Given the description of an element on the screen output the (x, y) to click on. 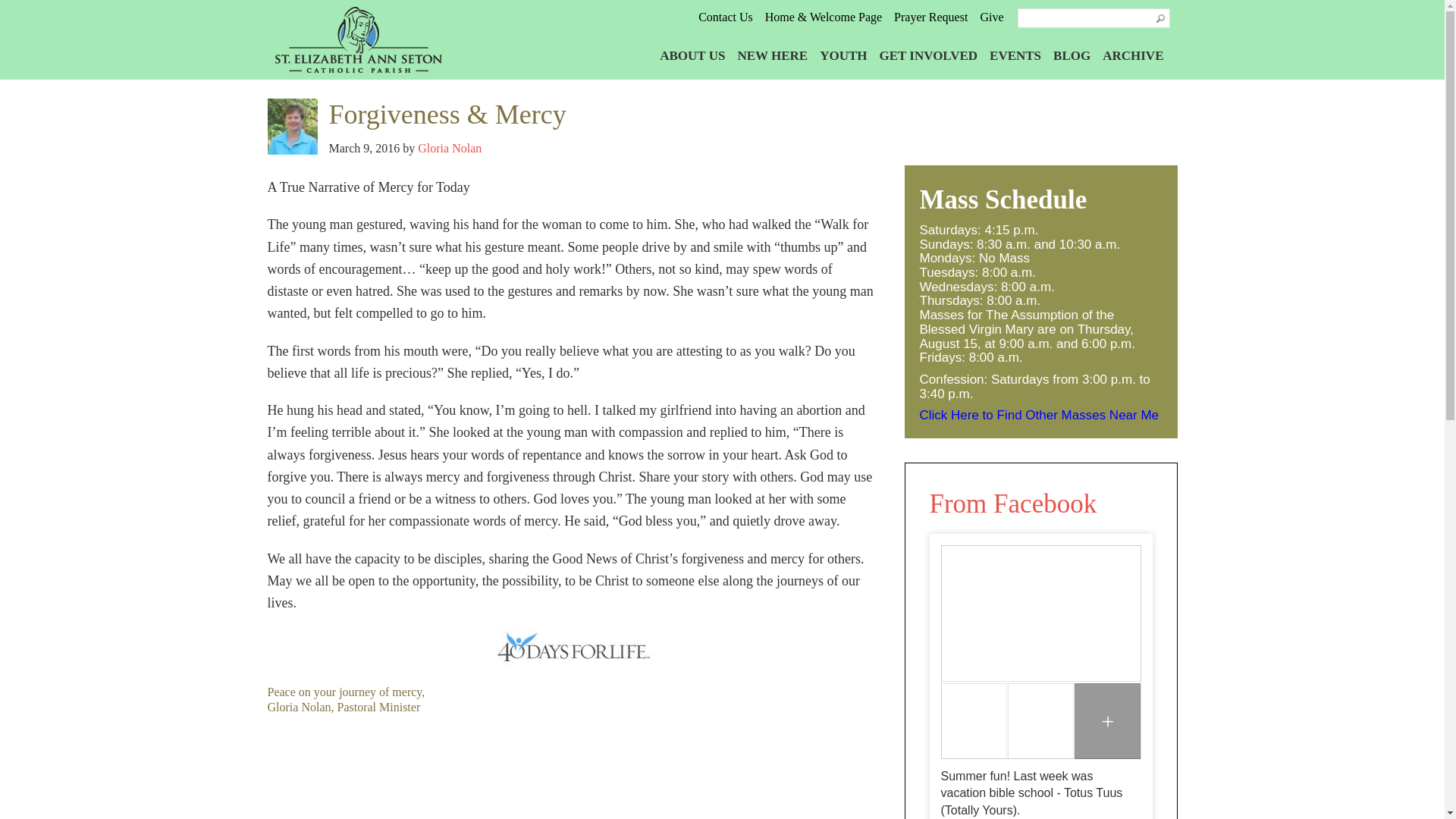
YOUTH (842, 55)
BLOG (1071, 55)
Gloria Nolan (449, 147)
Contact Us (725, 16)
Prayer Request (930, 16)
St. Elizabeth Ann Seton Catholic Parish (371, 39)
GET INVOLVED (927, 55)
Give (991, 16)
ABOUT US (692, 55)
Click Here to Find Other Masses Near Me (1038, 414)
EVENTS (1015, 55)
ARCHIVE (1132, 55)
NEW HERE (772, 55)
